Given the description of an element on the screen output the (x, y) to click on. 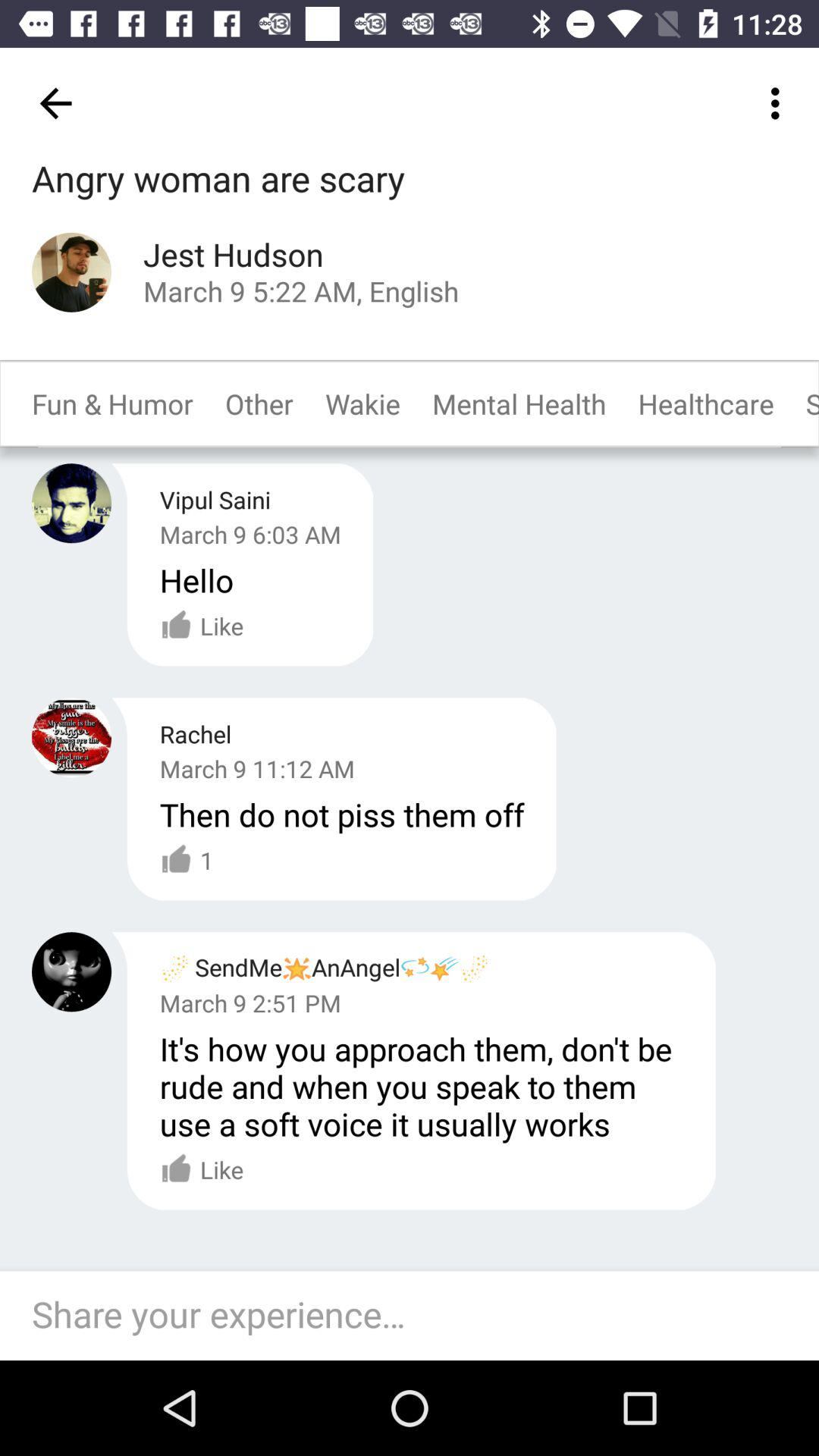
select user (71, 737)
